Given the description of an element on the screen output the (x, y) to click on. 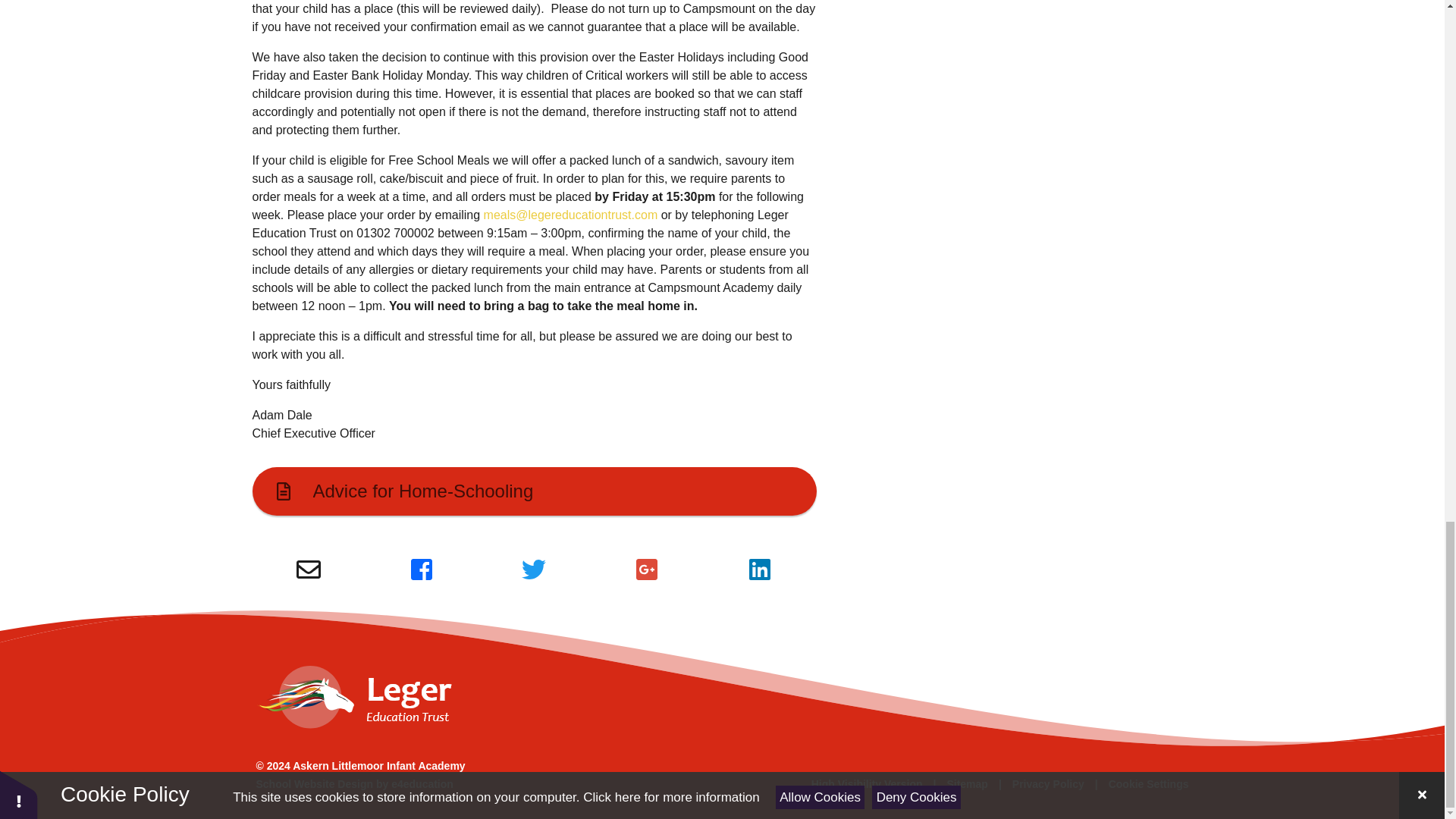
Cookie Settings (1148, 784)
